Given the description of an element on the screen output the (x, y) to click on. 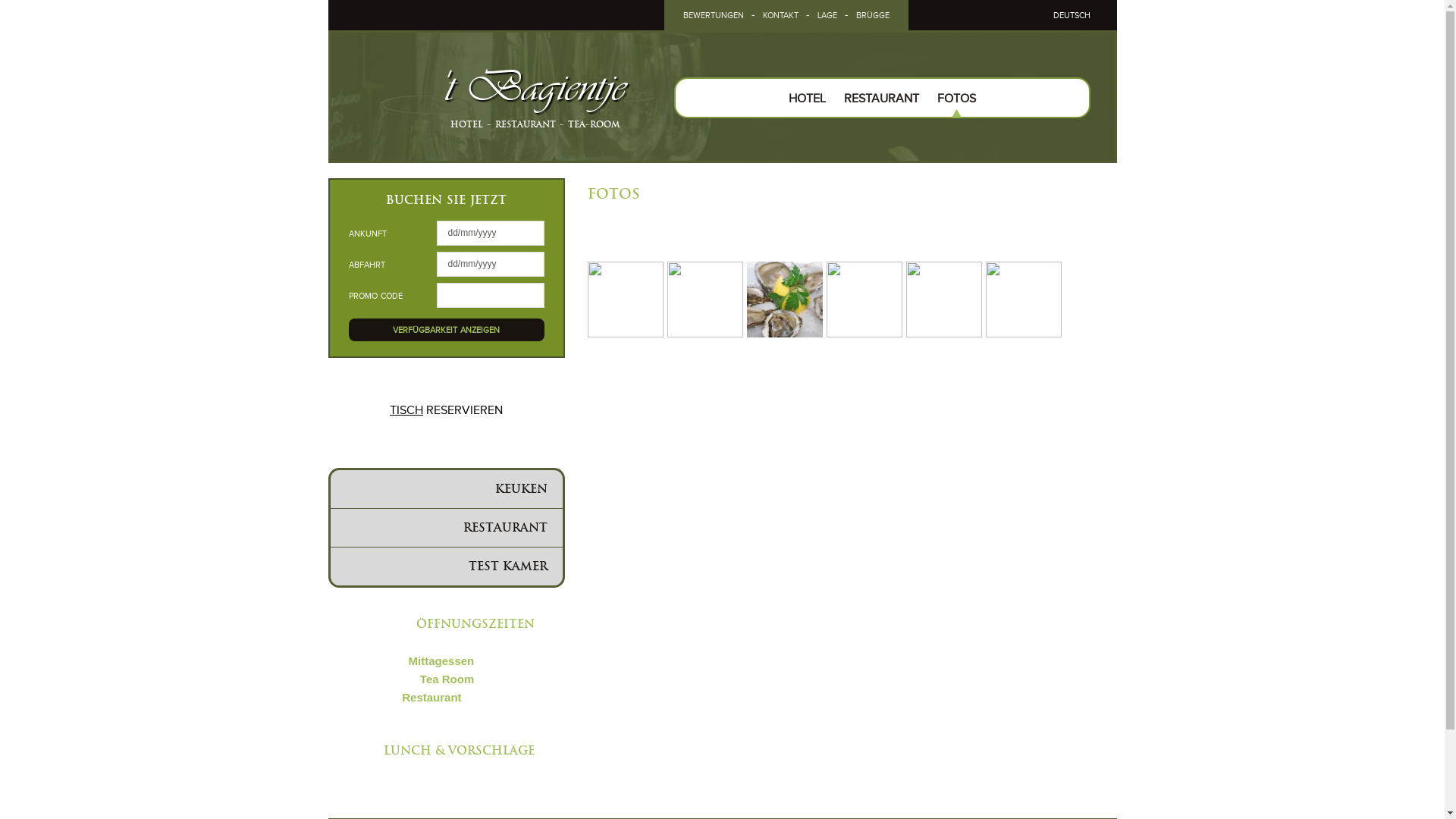
TISCH RESERVIEREN Element type: text (446, 410)
bewertungen Element type: text (712, 14)
kontakt Element type: text (780, 14)
RESTAURANT Element type: text (880, 98)
't Bagientje Element type: text (531, 86)
HOTEL Element type: text (806, 98)
RESTAURANT Element type: text (446, 527)
TEST KAMER Element type: text (446, 566)
FOTOS Element type: text (956, 98)
lage Element type: text (827, 14)
KEUKEN Element type: text (446, 489)
